Given the description of an element on the screen output the (x, y) to click on. 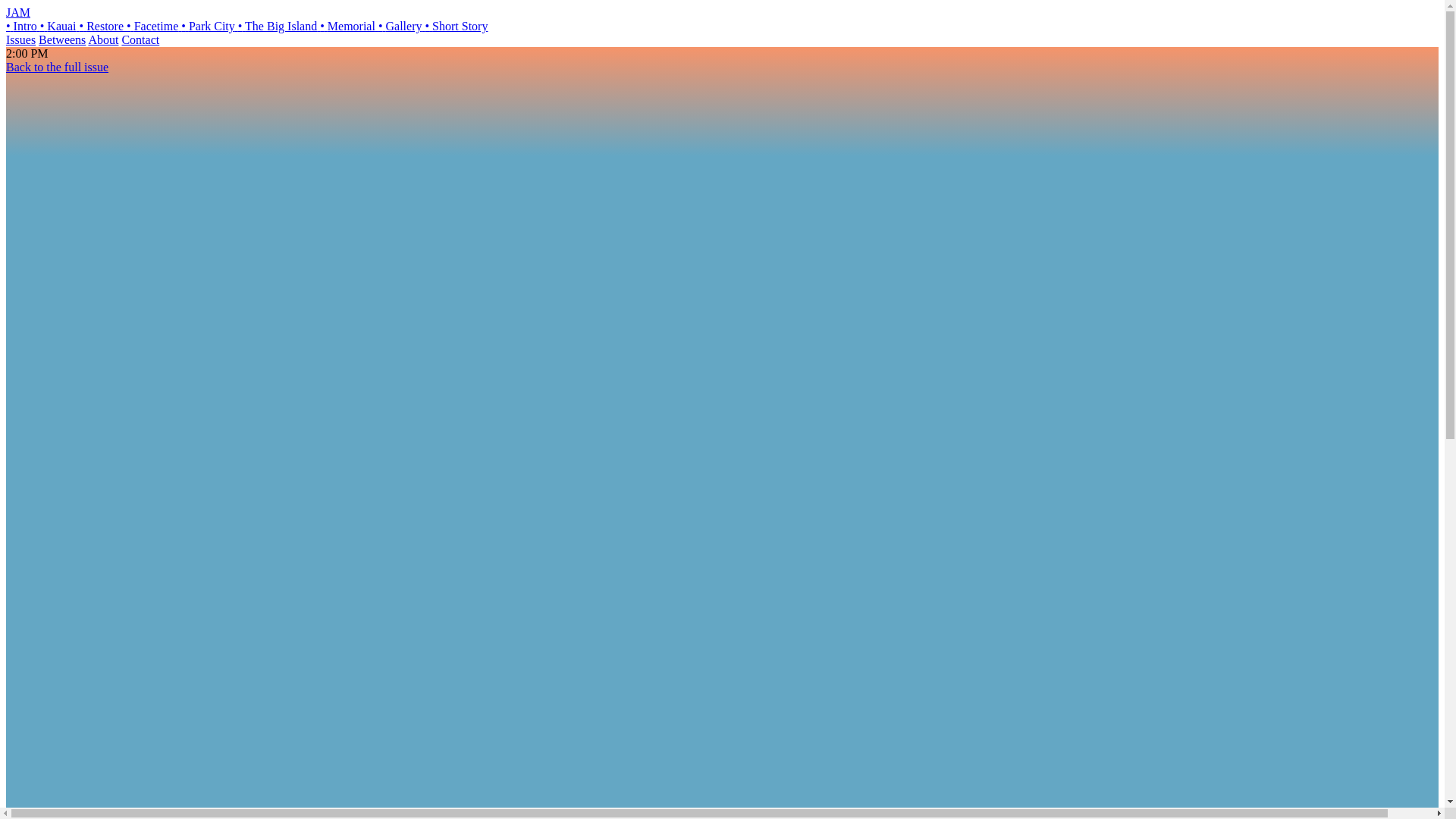
Contact (139, 39)
About (102, 39)
Betweens (62, 39)
Issues (19, 39)
Back to the full issue (56, 66)
JAM (17, 11)
